Given the description of an element on the screen output the (x, y) to click on. 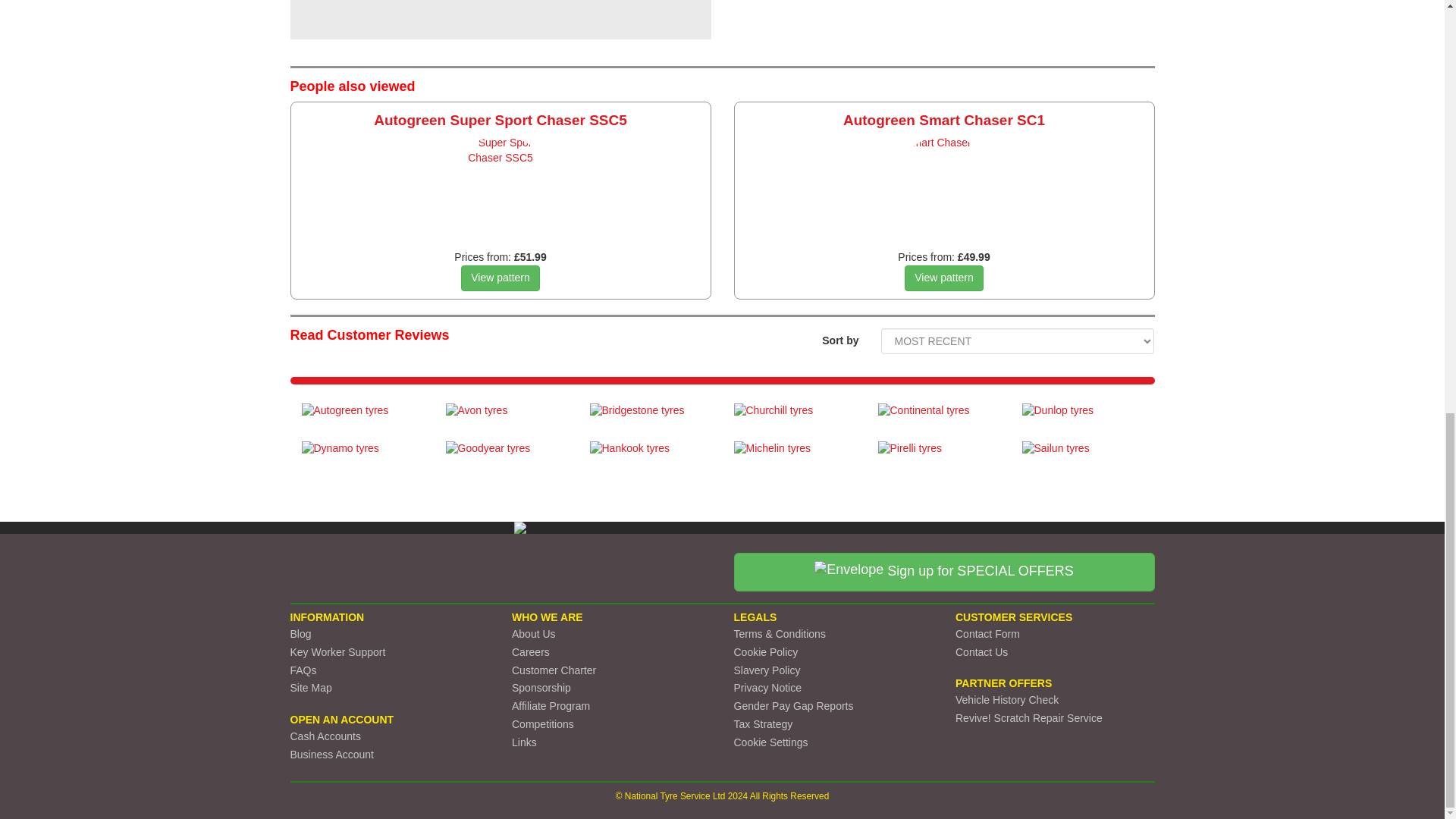
Autogreen car tyres (362, 418)
Bridgestone car tyres (650, 418)
Continental car tyres (937, 418)
Churchill car tyres (794, 418)
Avon car tyres (506, 418)
